Given the description of an element on the screen output the (x, y) to click on. 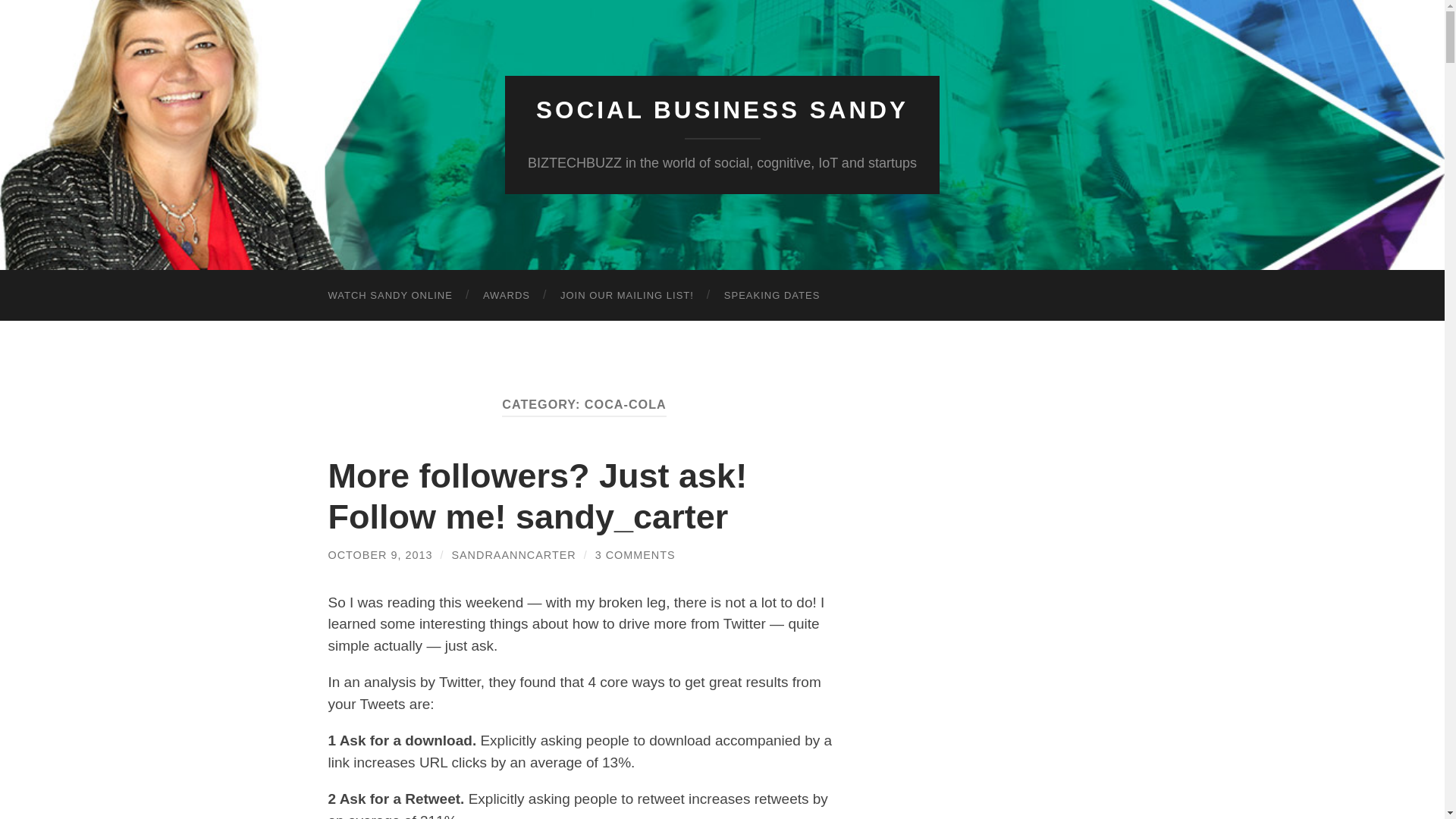
SOCIAL BUSINESS SANDY (721, 109)
SPEAKING DATES (771, 295)
JOIN OUR MAILING LIST! (626, 295)
OCTOBER 9, 2013 (379, 554)
3 COMMENTS (635, 554)
AWARDS (505, 295)
Posts by sandraanncarter (513, 554)
SANDRAANNCARTER (513, 554)
WATCH SANDY ONLINE (390, 295)
